Given the description of an element on the screen output the (x, y) to click on. 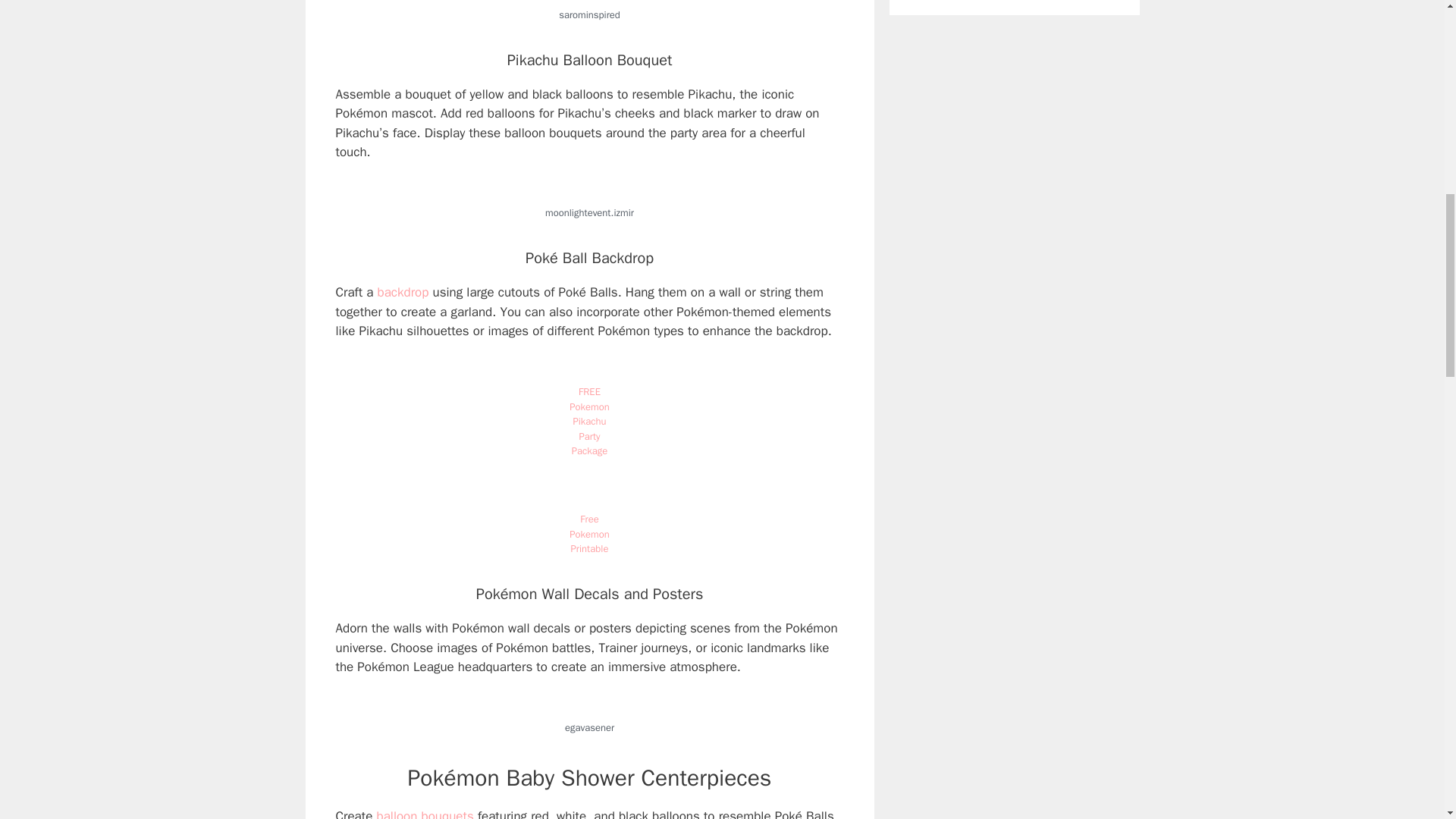
FREE Pokemon Pikachu Party Package (588, 420)
Free Pokemon Printable (588, 533)
balloon bouquets (424, 813)
backdrop (403, 292)
